Given the description of an element on the screen output the (x, y) to click on. 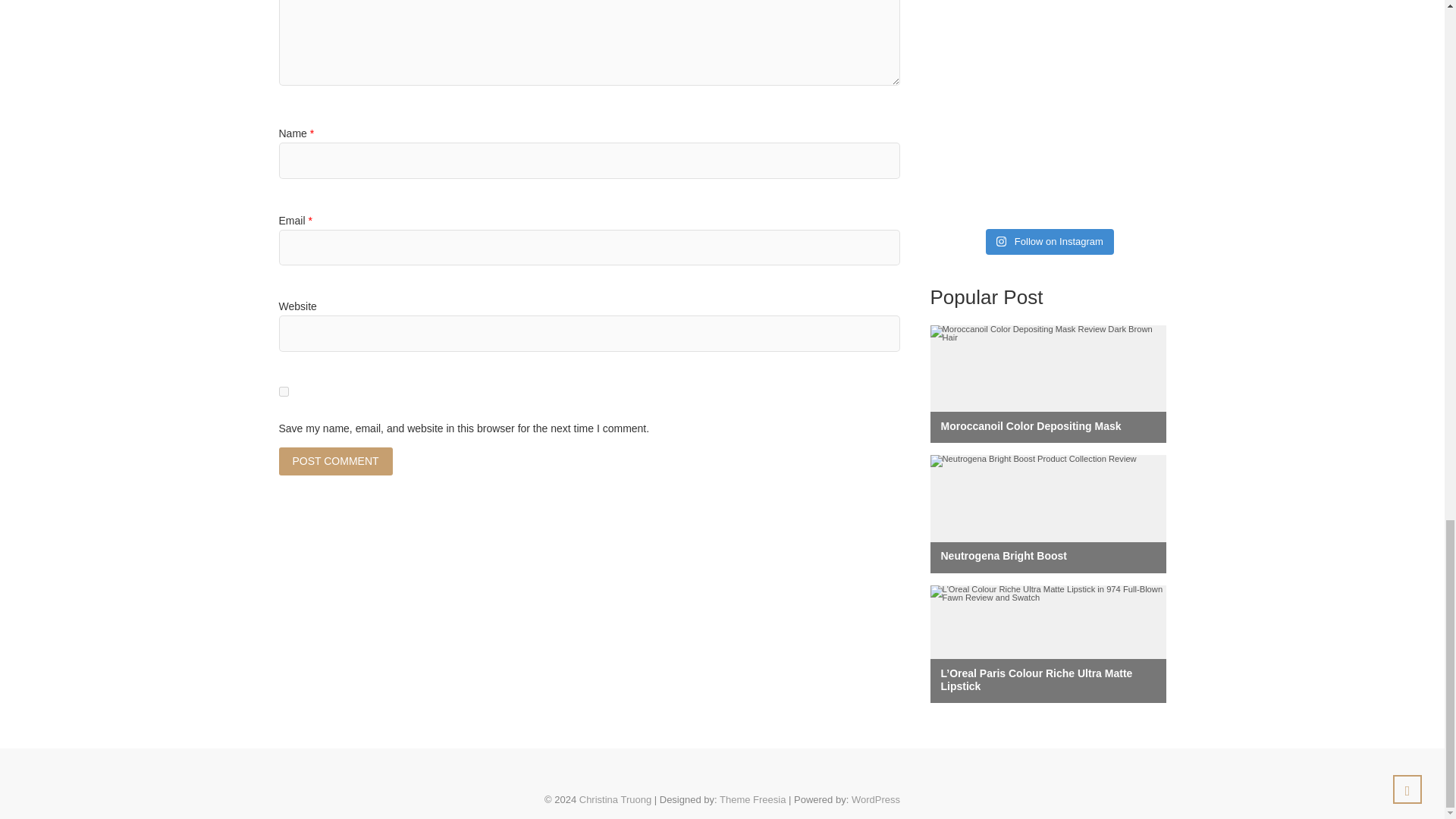
yes (283, 391)
WordPress (875, 799)
Christina Truong (614, 799)
Theme Freesia (752, 799)
Post Comment (336, 461)
Post Comment (336, 461)
